Given the description of an element on the screen output the (x, y) to click on. 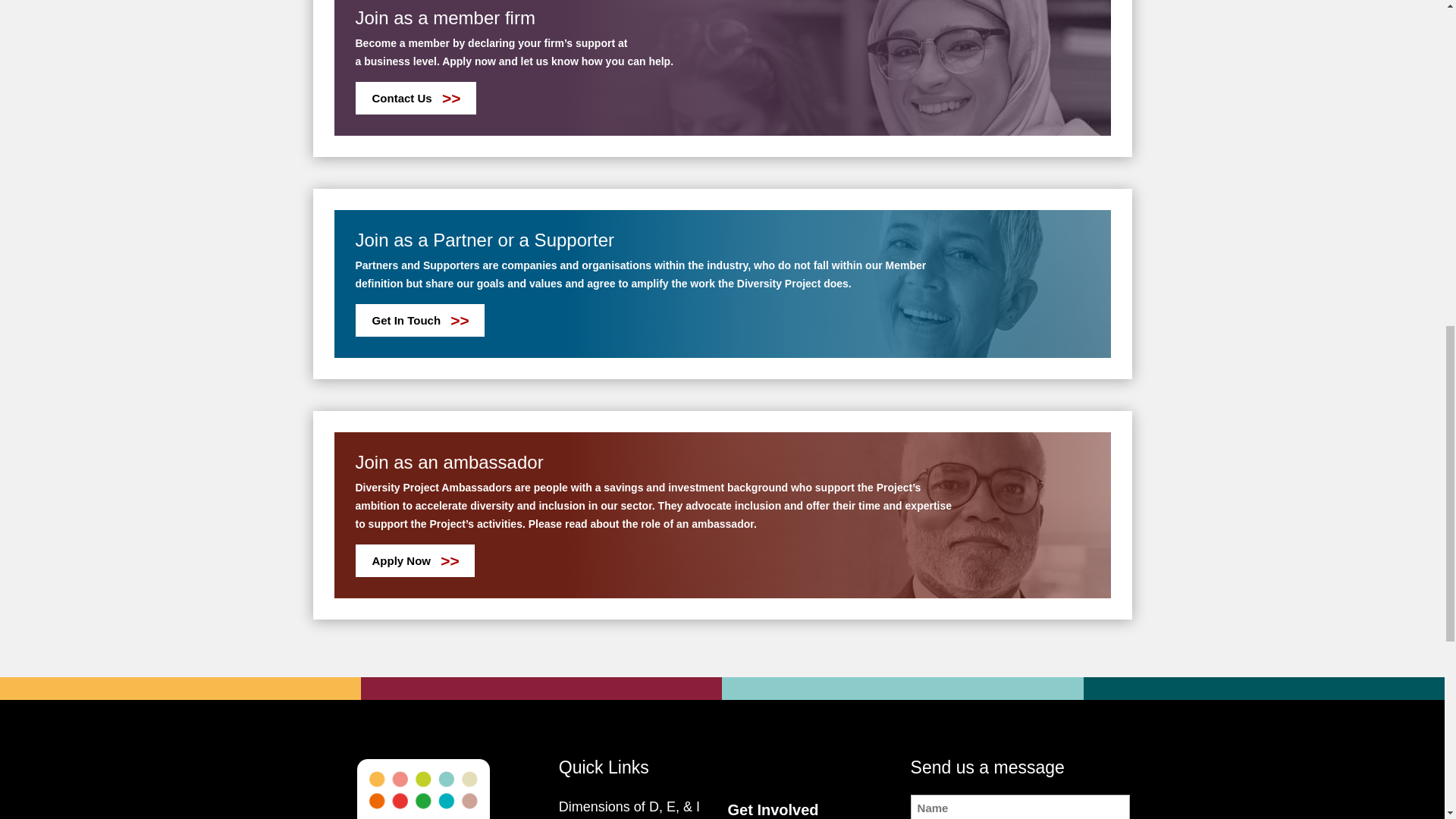
diversity-project-logo (423, 794)
